Given the description of an element on the screen output the (x, y) to click on. 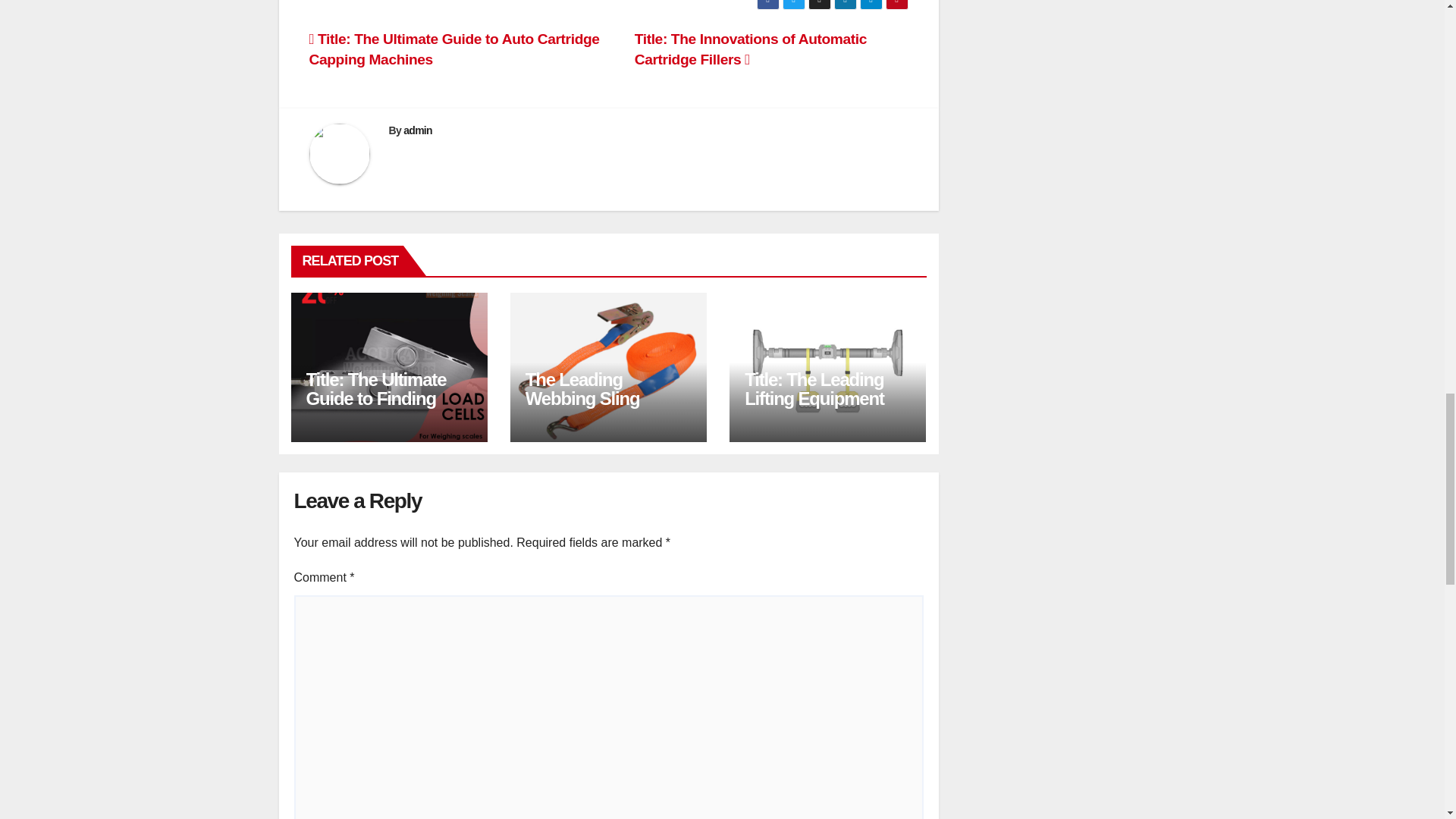
Title: The Ultimate Guide to Auto Cartridge Capping Machines (453, 49)
admin (417, 130)
Title: The Innovations of Automatic Cartridge Fillers (750, 49)
Title: The Leading Lifting Equipment Suppliers in the Market (813, 407)
